Given the description of an element on the screen output the (x, y) to click on. 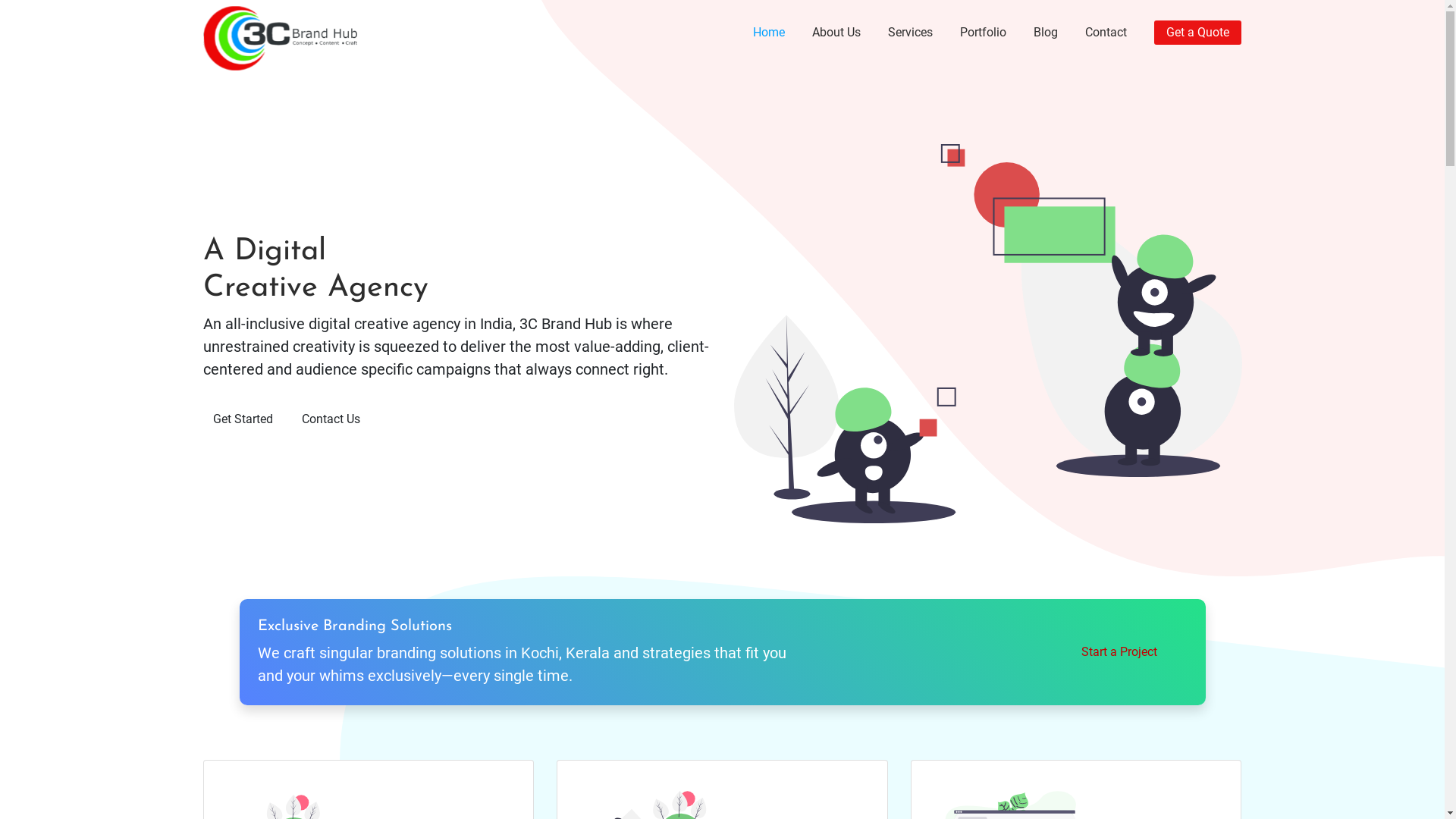
About Us Element type: text (836, 32)
Services Element type: text (910, 32)
Get Started Element type: text (242, 418)
Blog Element type: text (1045, 32)
Contact Us Element type: text (330, 418)
Contact Element type: text (1105, 32)
Start a Project Element type: text (1118, 651)
Get a Quote Element type: text (1197, 32)
Portfolio Element type: text (983, 32)
Home Element type: text (768, 32)
